Given the description of an element on the screen output the (x, y) to click on. 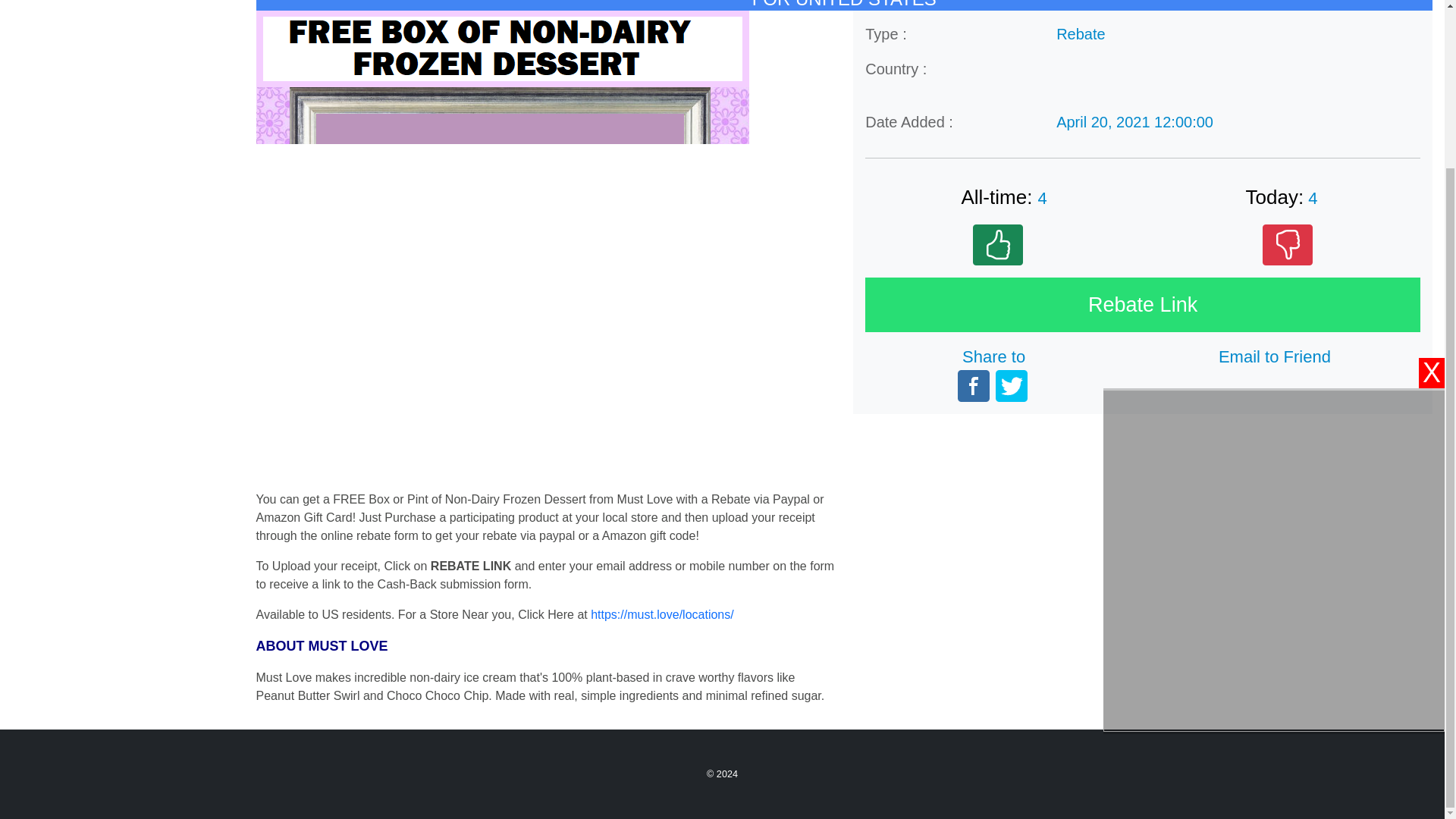
Vote Down (1287, 244)
Advertisement (1273, 357)
Vote Up (997, 244)
Advertisement (994, 531)
Advertisement (721, 578)
Website Coupon Link (1142, 304)
